Given the description of an element on the screen output the (x, y) to click on. 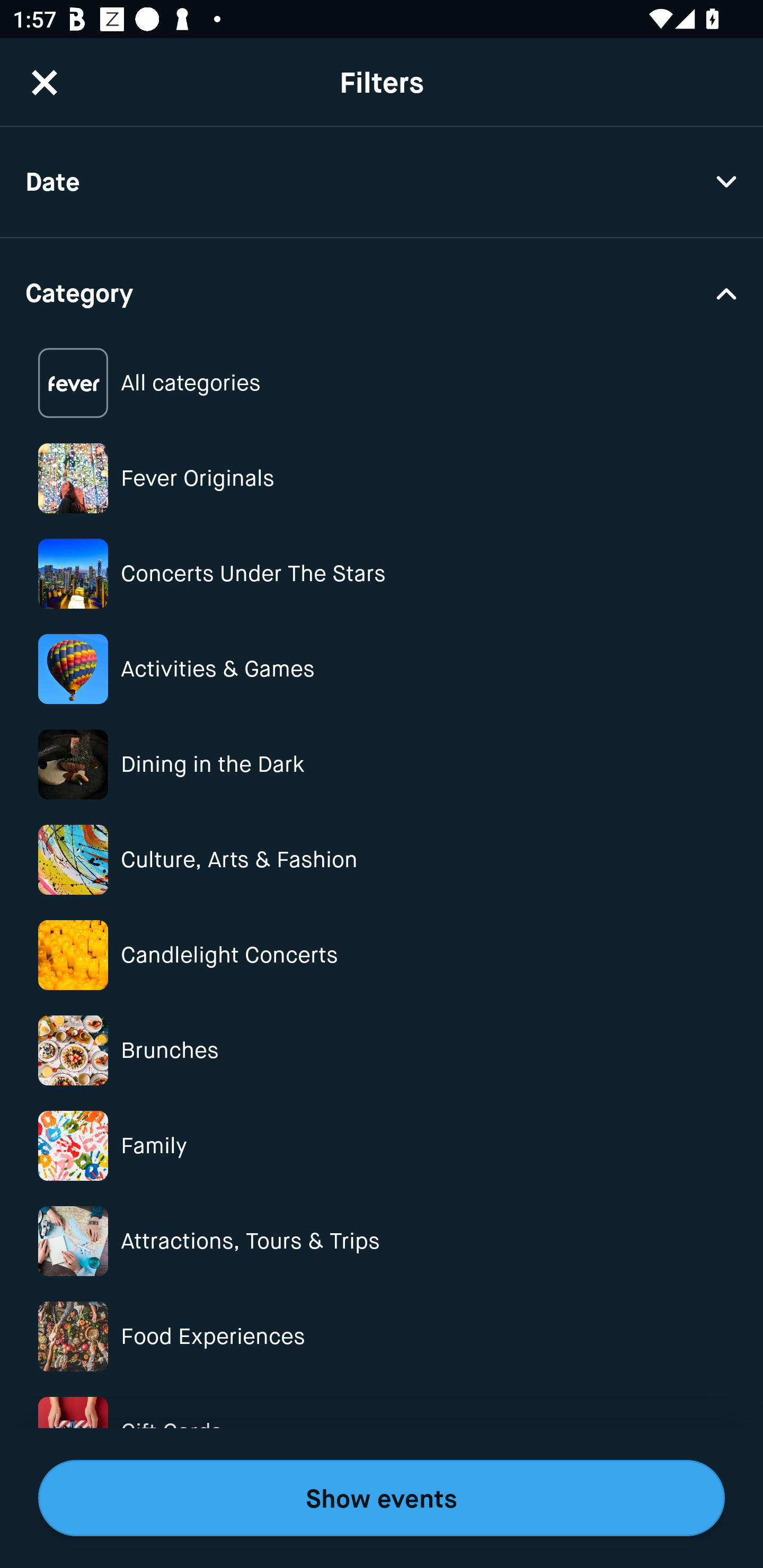
CloseButton (44, 82)
Date Drop Down Arrow (381, 182)
Category Drop Down Arrow (381, 291)
Category Image All categories (381, 382)
Category Image Fever Originals (381, 477)
Category Image Concerts Under The Stars (381, 573)
Category Image Activities & Games (381, 668)
Category Image Dining in the Dark (381, 763)
Category Image Culture, Arts & Fashion (381, 859)
Category Image Candlelight Concerts (381, 954)
Category Image Brunches (381, 1050)
Category Image Family (381, 1145)
Category Image Attractions, Tours & Trips (381, 1240)
Category Image Food Experiences (381, 1336)
Show events (381, 1497)
